Given the description of an element on the screen output the (x, y) to click on. 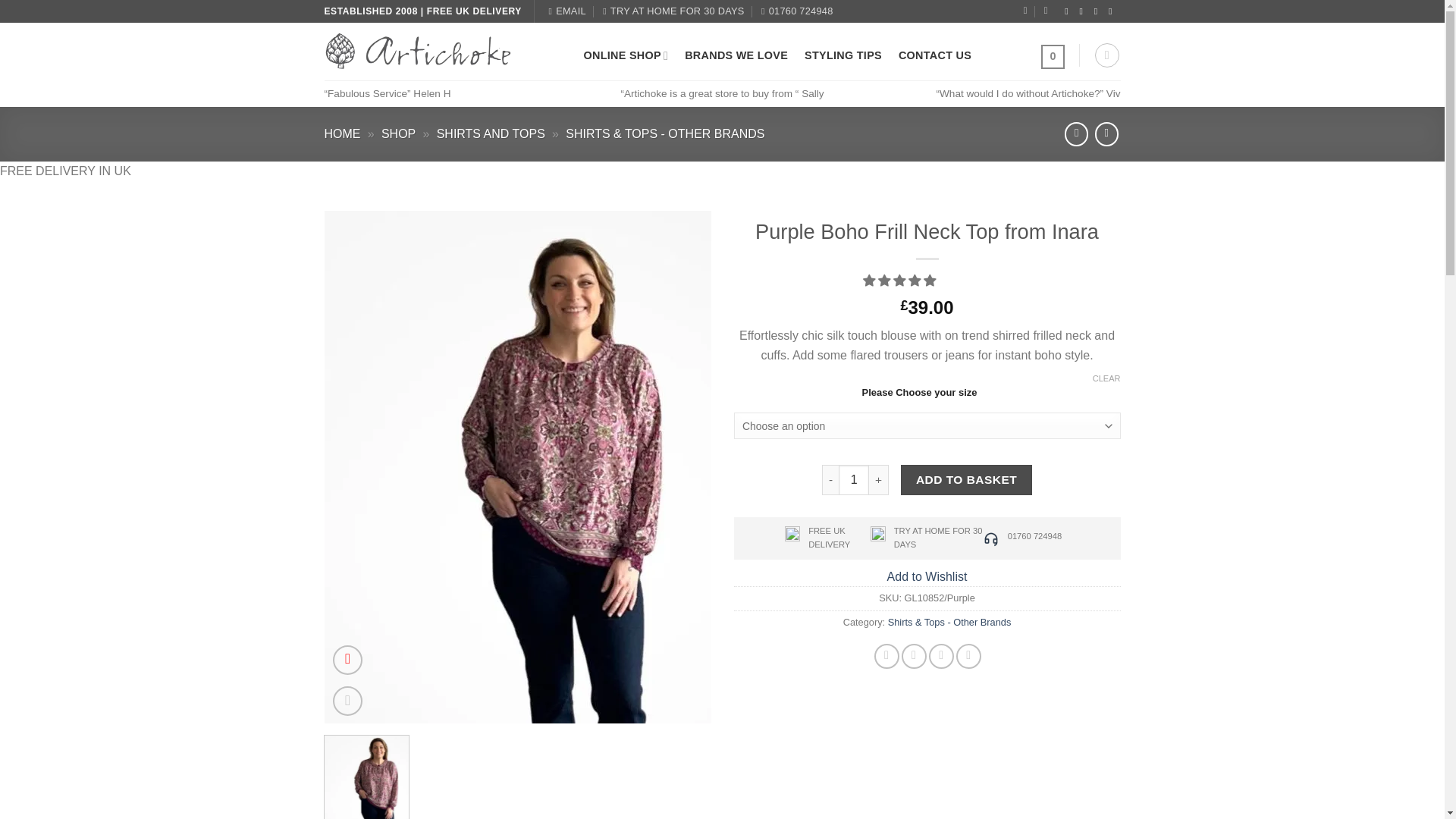
Email to a Friend (940, 656)
CONTACT US (934, 54)
01760 724948 (796, 11)
SHOP (397, 133)
HOME (342, 133)
01760 724948 (796, 11)
TRY AT HOME FOR 30 DAYS (673, 11)
Artichoke (442, 51)
BRANDS WE LOVE (735, 54)
Try At Home For 30 Days  (673, 11)
Zoom (347, 700)
EMAIL (567, 11)
STYLING TIPS (843, 54)
Share on Facebook (887, 656)
ONLINE SHOP (625, 54)
